Given the description of an element on the screen output the (x, y) to click on. 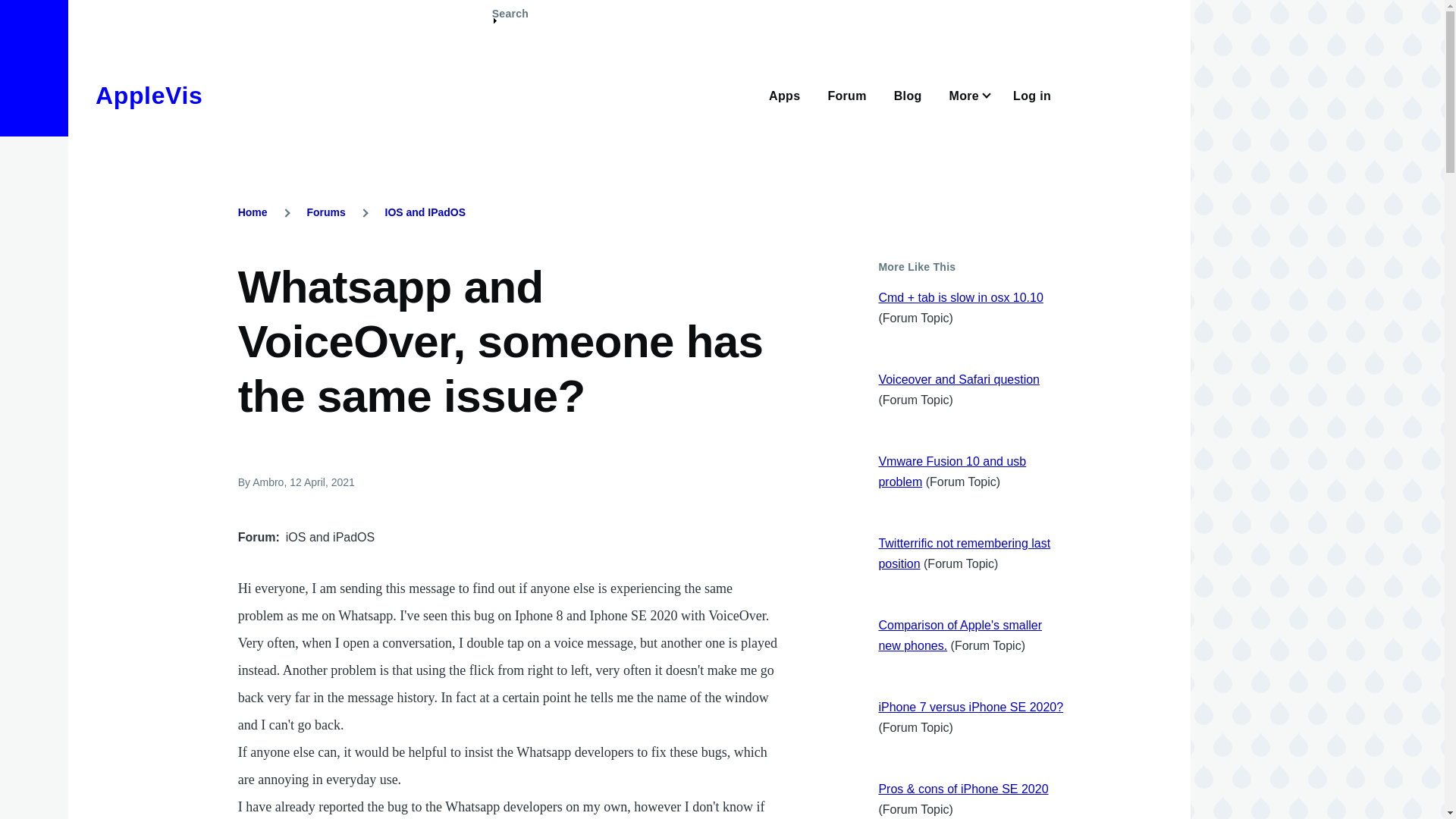
Forums (325, 212)
Twitterrific not remembering last position (963, 553)
Skip to main content (595, 6)
Voiceover and Safari question (958, 379)
Home (149, 94)
iPhone 7 versus iPhone SE 2020? (969, 707)
Search (510, 20)
AppleVis (149, 94)
Vmware Fusion 10 and usb problem (951, 471)
Home (252, 212)
